Given the description of an element on the screen output the (x, y) to click on. 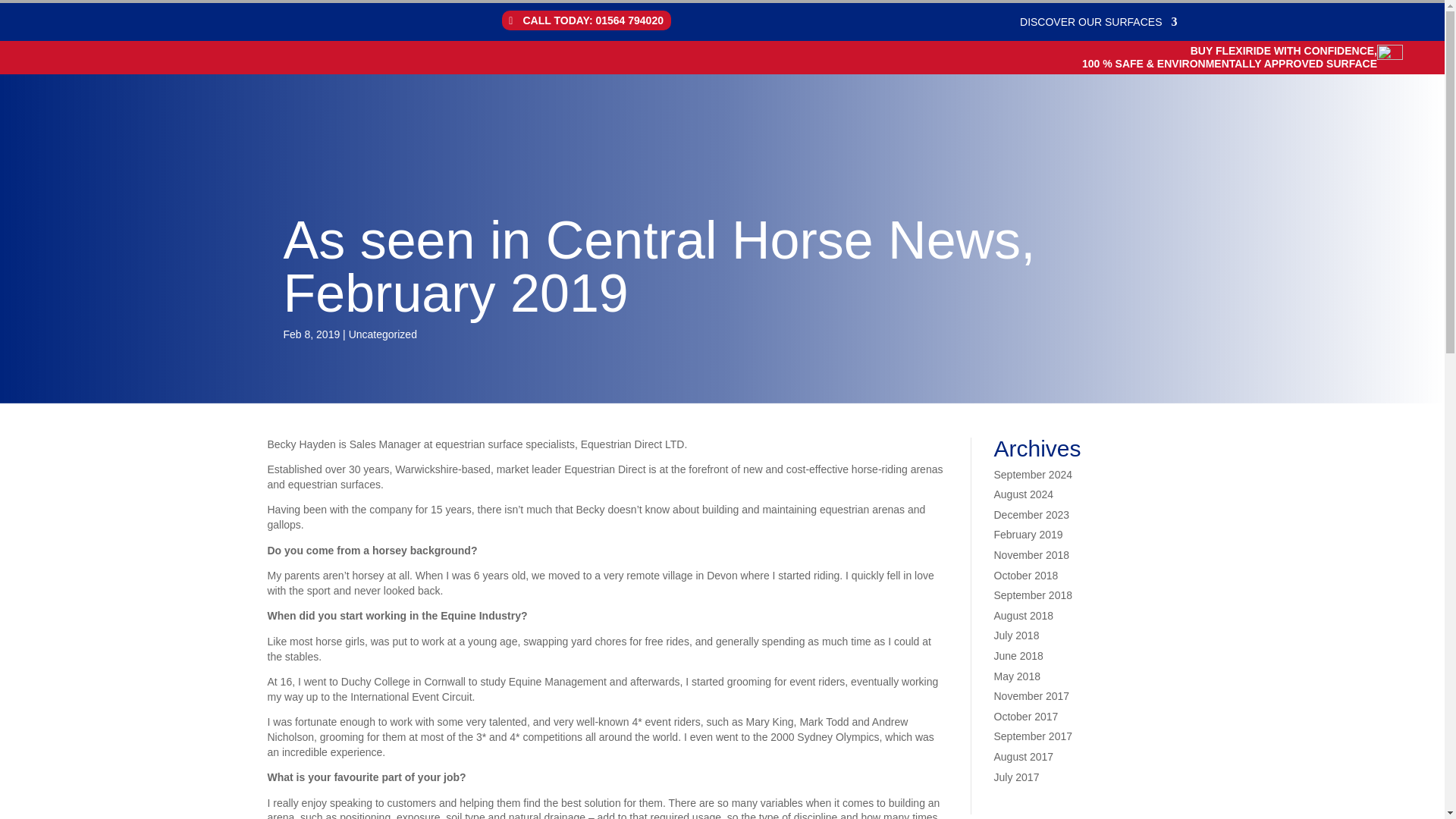
CALL TODAY: 01564 794020 (586, 20)
November 2018 (1030, 554)
September 2018 (1031, 594)
May 2018 (1015, 676)
June 2018 (1017, 655)
July 2018 (1015, 635)
December 2023 (1030, 514)
July 2017 (1015, 776)
August 2018 (1022, 615)
October 2018 (1025, 575)
